Given the description of an element on the screen output the (x, y) to click on. 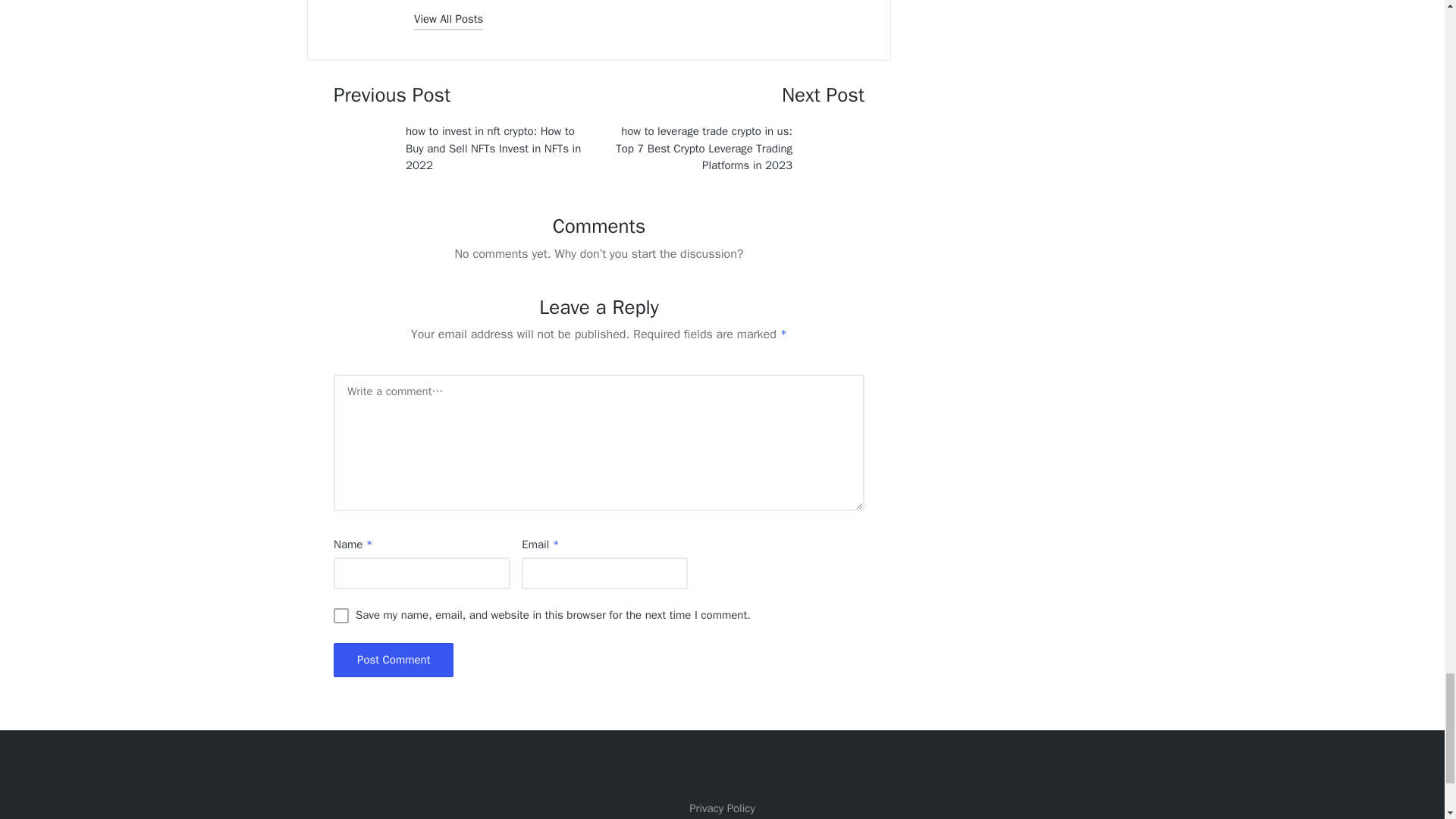
Post Comment (392, 659)
Post Comment (392, 659)
View All Posts (448, 19)
yes (341, 615)
